Given the description of an element on the screen output the (x, y) to click on. 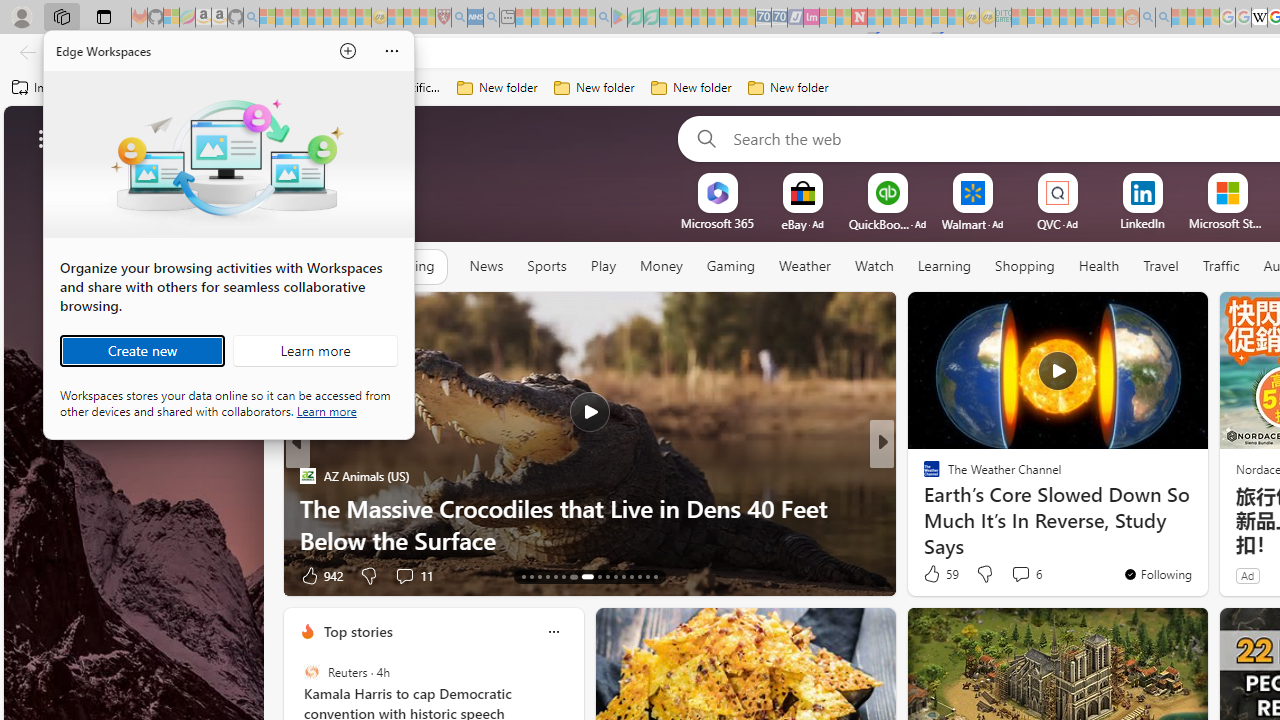
Sports (546, 267)
AutomationID: tab-20 (578, 576)
google - Search - Sleeping (603, 17)
View comments 8 Comment (1019, 574)
AutomationID: tab-26 (638, 576)
CNET (923, 475)
Create new workspace (142, 350)
utah sues federal government - Search - Sleeping (491, 17)
Morning Carpool (923, 475)
